Given the description of an element on the screen output the (x, y) to click on. 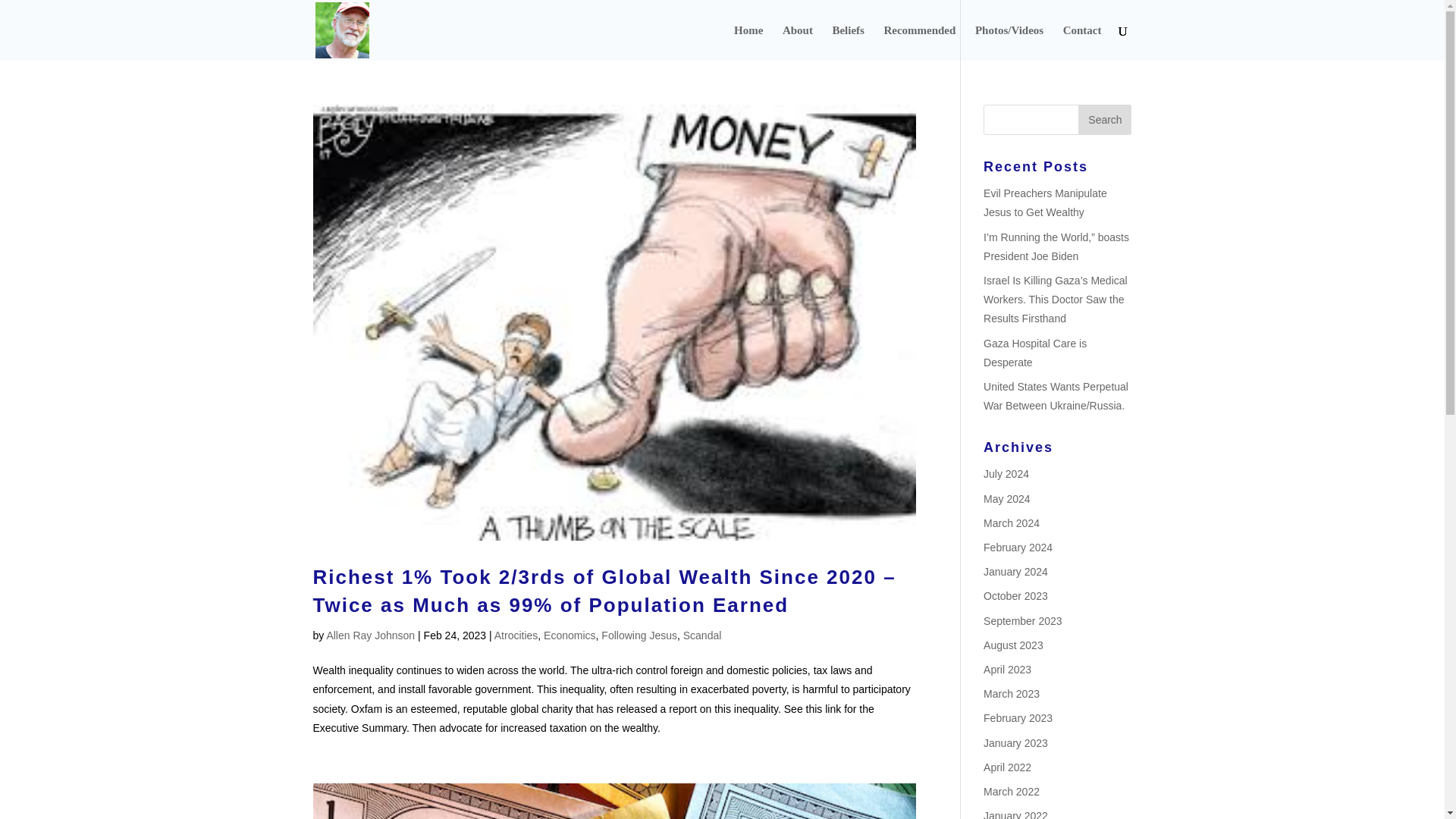
March 2024 (1011, 522)
Allen Ray Johnson (370, 635)
Posts by Allen Ray Johnson (370, 635)
Scandal (702, 635)
February 2024 (1018, 547)
Search (1104, 119)
Beliefs (847, 42)
Contact (1082, 42)
Gaza Hospital Care is Desperate (1035, 351)
Search (1104, 119)
